Given the description of an element on the screen output the (x, y) to click on. 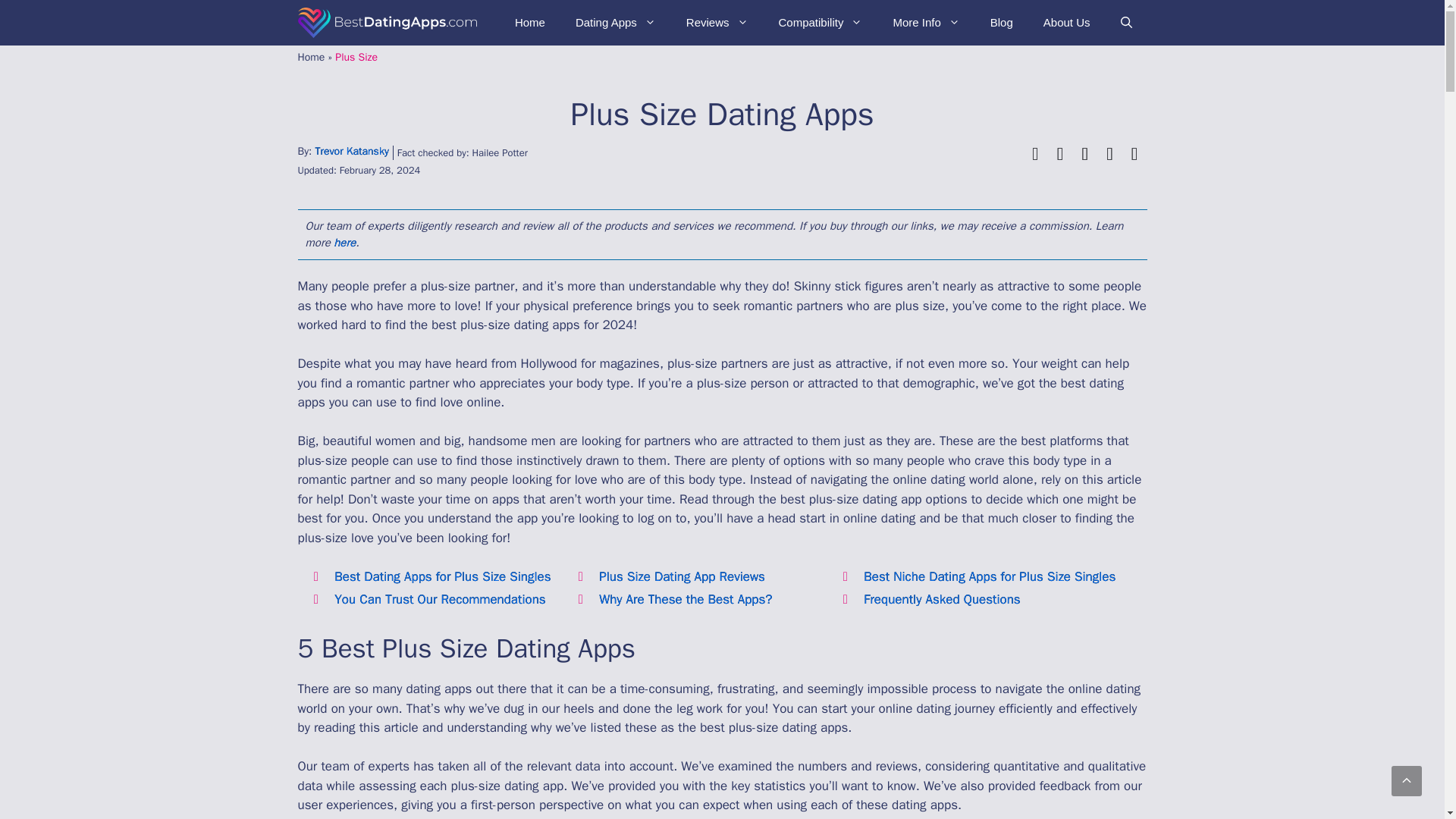
About Us (1066, 22)
Compatibility (819, 22)
Home (529, 22)
Dating Apps (615, 22)
Trevor Katansky (351, 151)
Scroll back to top (1406, 780)
Home (310, 56)
More Info (925, 22)
Blog (1001, 22)
Reviews (716, 22)
